Given the description of an element on the screen output the (x, y) to click on. 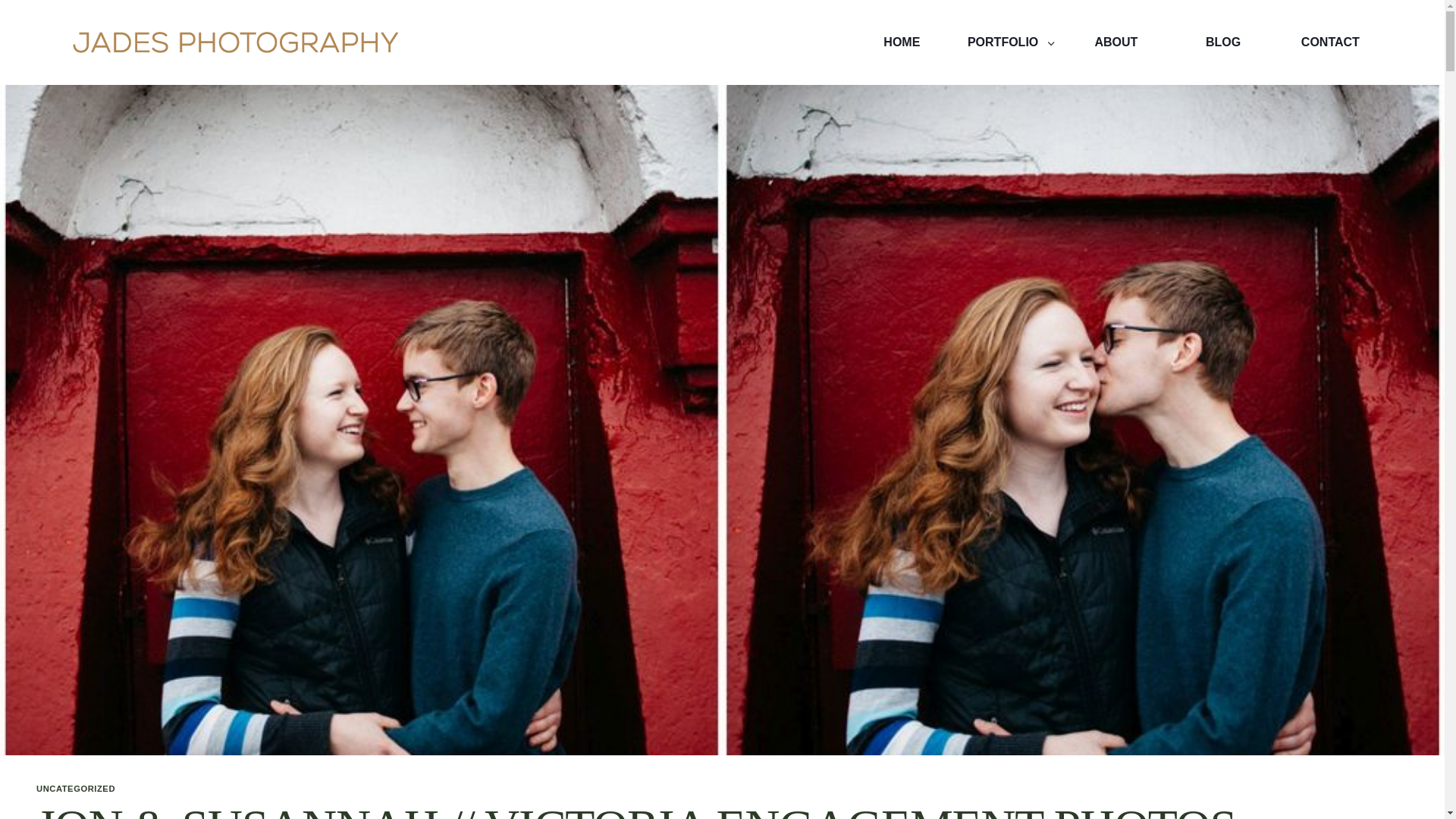
ABOUT (1115, 42)
UNCATEGORIZED (75, 788)
CONTACT (1330, 42)
BLOG (1222, 42)
HOME (901, 42)
PORTFOLIO (1008, 42)
